Given the description of an element on the screen output the (x, y) to click on. 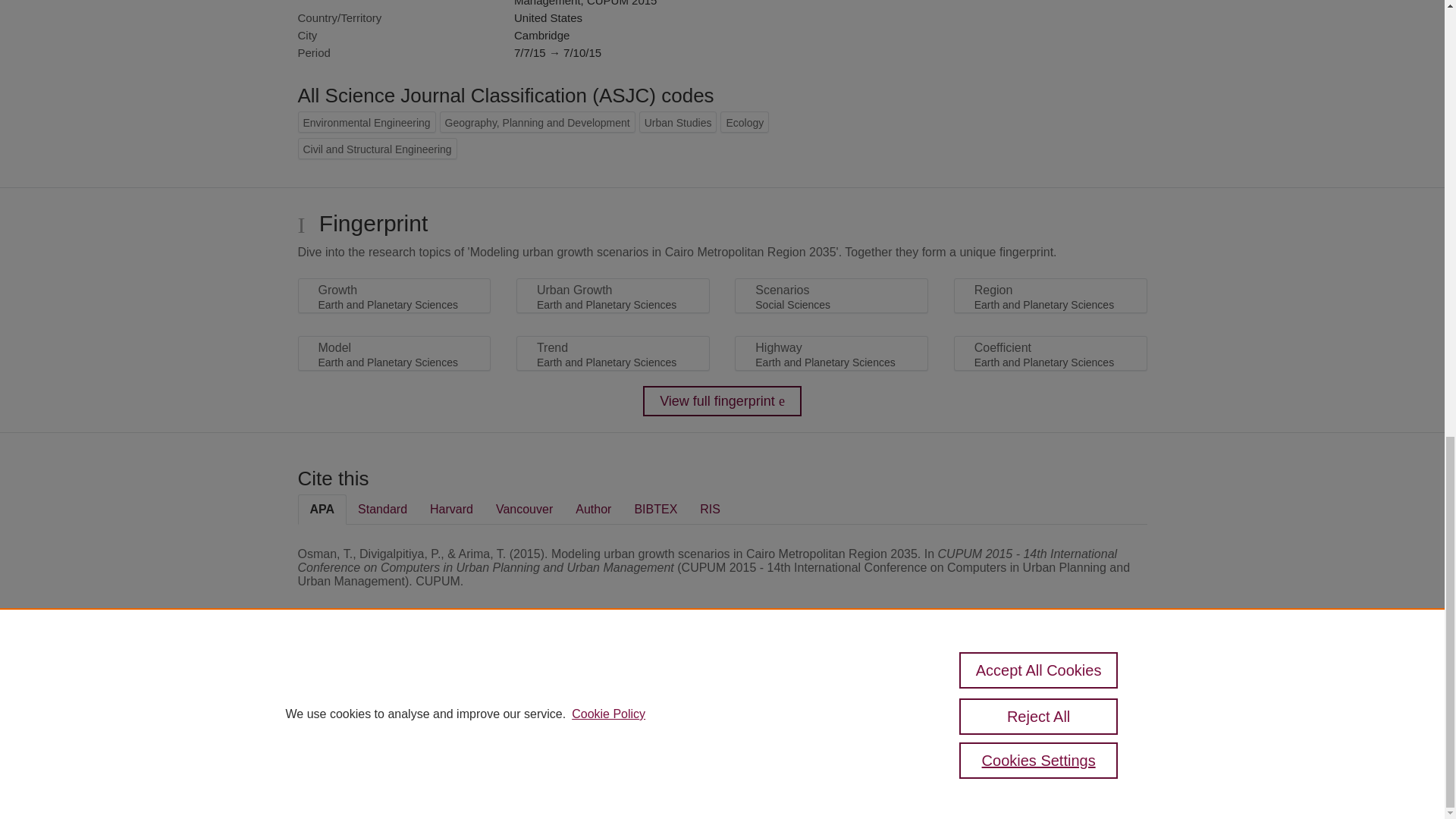
Pure (362, 686)
Scopus (394, 686)
View full fingerprint (722, 400)
